Given the description of an element on the screen output the (x, y) to click on. 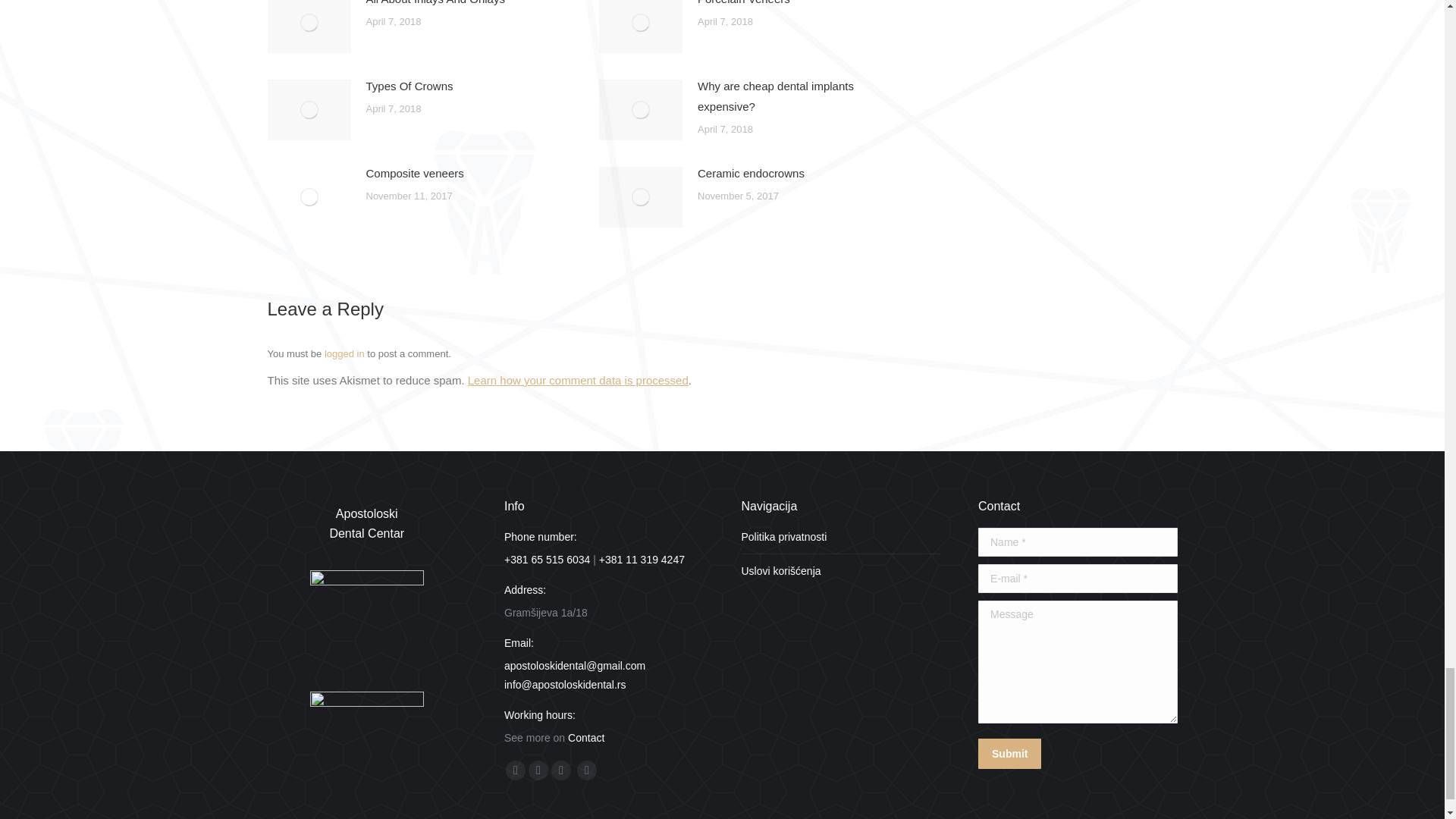
submit (1080, 755)
